Given the description of an element on the screen output the (x, y) to click on. 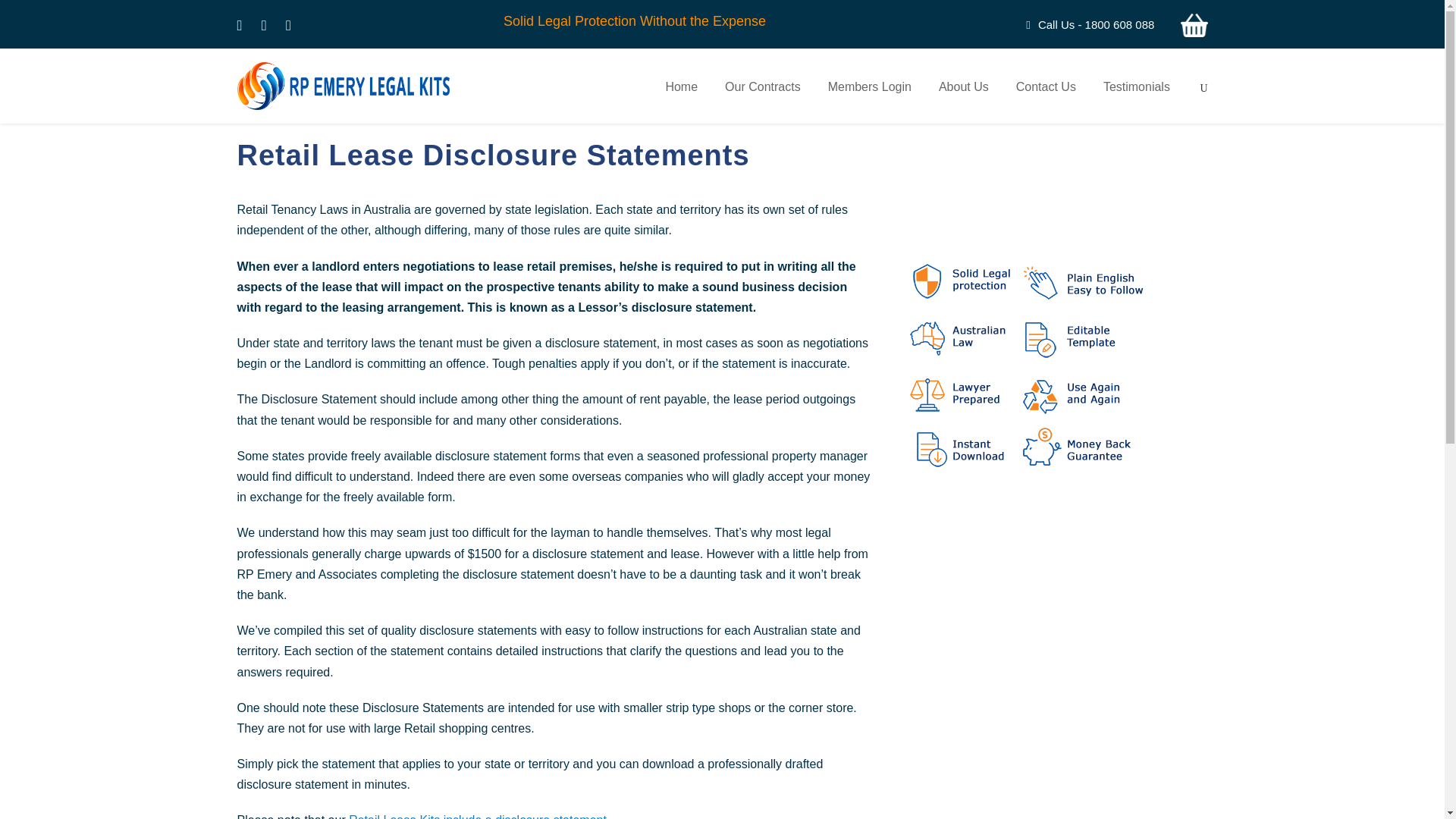
Retail Lease Kits include a disclosure statement (478, 816)
Our Contracts (762, 99)
Members Login (869, 99)
Testimonials (1136, 99)
Contact Us (1045, 99)
About Us (963, 99)
cart (1193, 24)
